Given the description of an element on the screen output the (x, y) to click on. 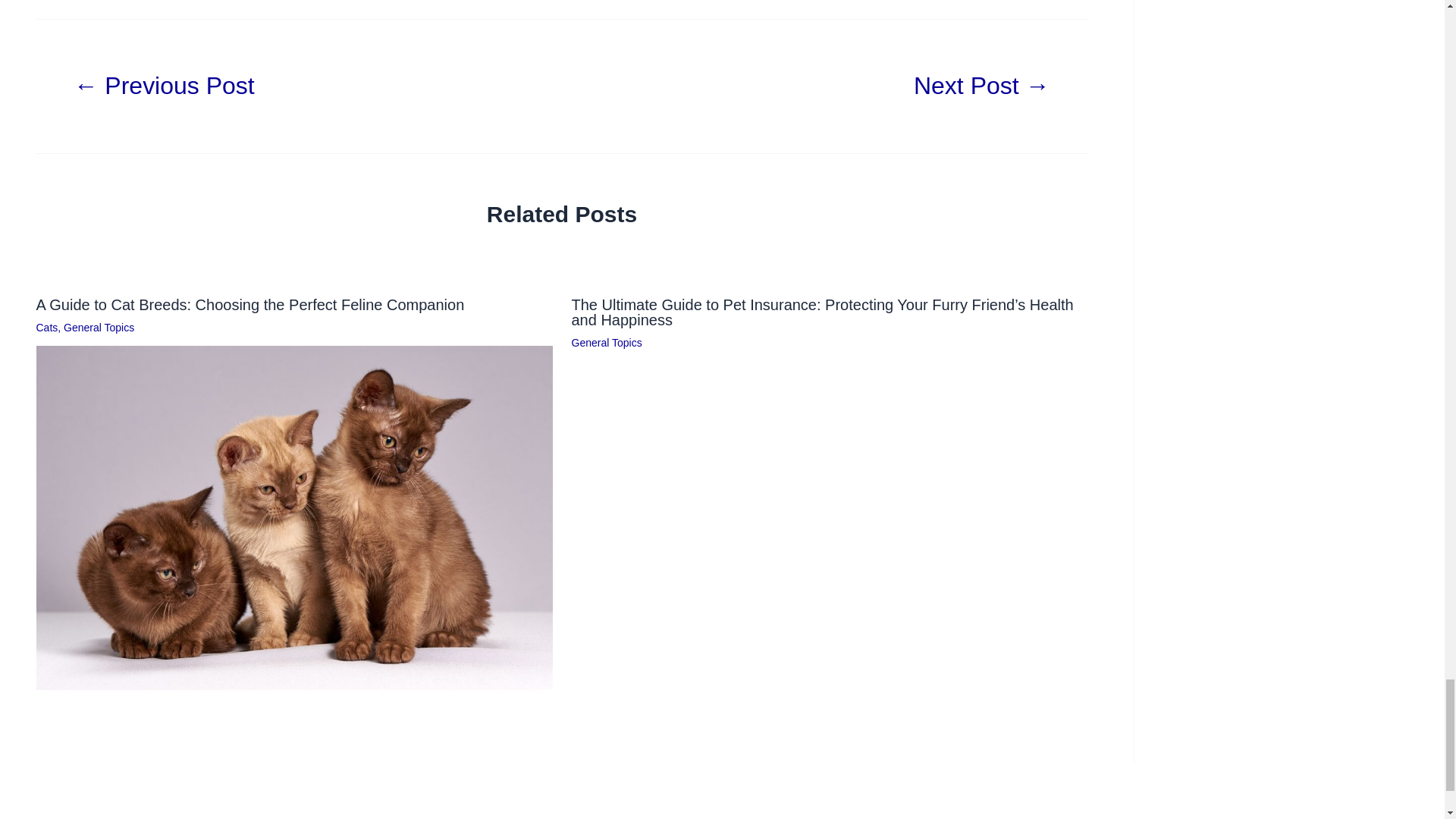
Cats (47, 327)
General Topics (607, 342)
General Topics (98, 327)
A Guide to Cat Breeds: Choosing the Perfect Feline Companion (250, 304)
